Given the description of an element on the screen output the (x, y) to click on. 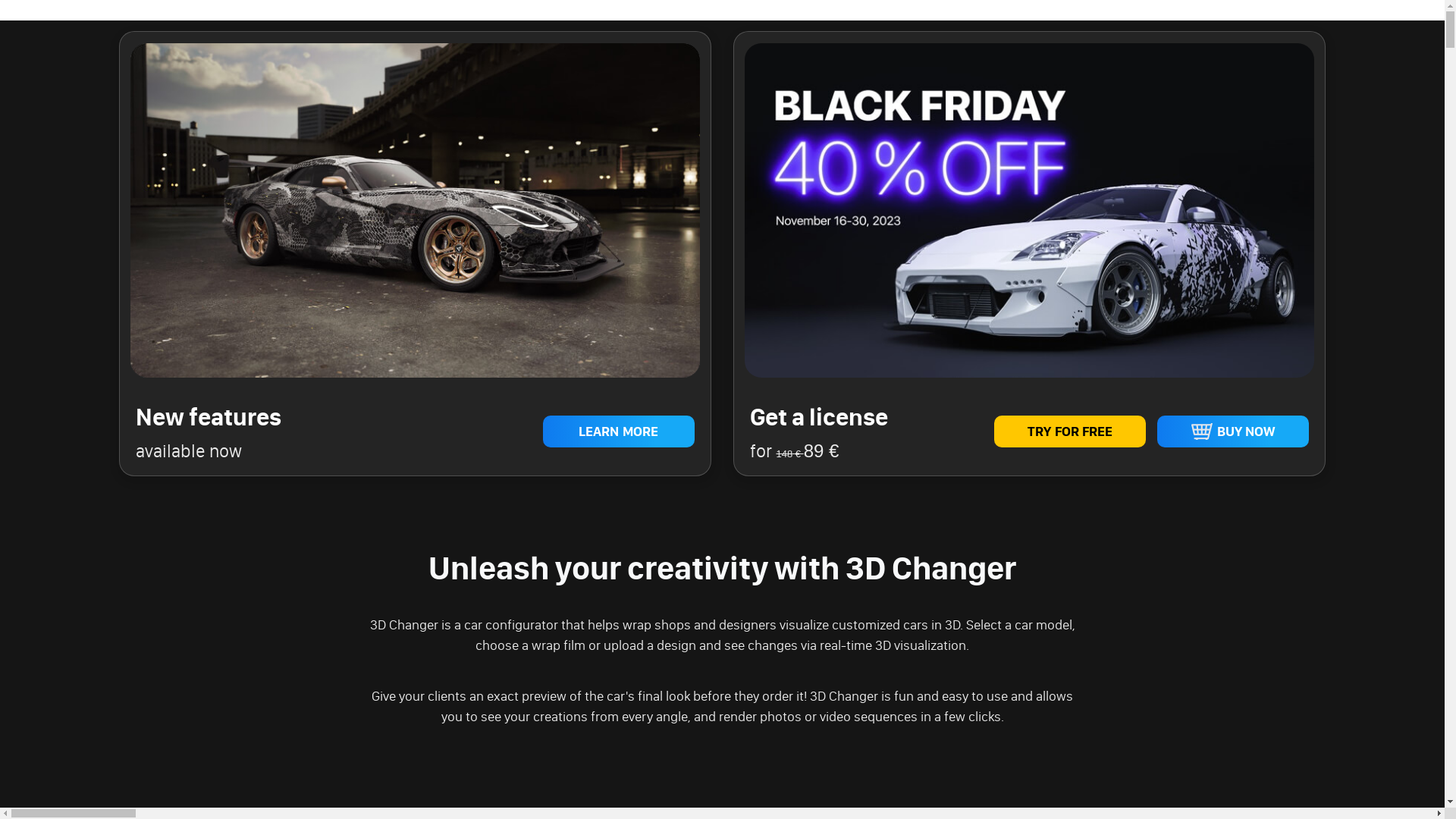
LEARN MORE Element type: text (618, 431)
TRY FOR FREE Element type: text (1069, 431)
BUY NOW Element type: text (1232, 431)
